Given the description of an element on the screen output the (x, y) to click on. 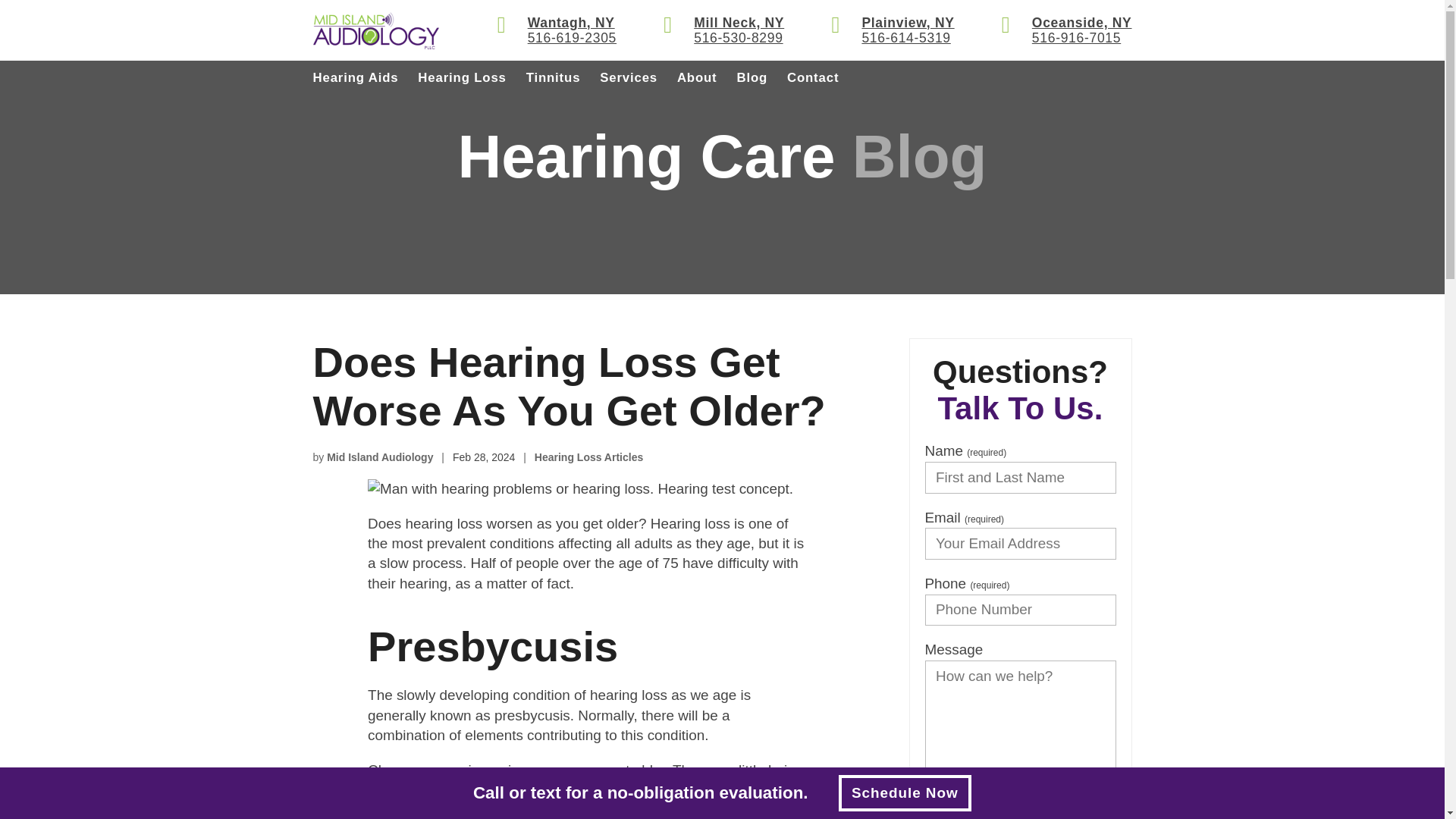
Plainview, NY (907, 22)
Mill Neck, NY (739, 22)
516-614-5319 (907, 37)
Posts by Mid Island Audiology (379, 457)
516-619-2305 (571, 37)
Oceanside, NY (1082, 22)
516-530-8299 (739, 37)
Wantagh, NY (571, 22)
